Given the description of an element on the screen output the (x, y) to click on. 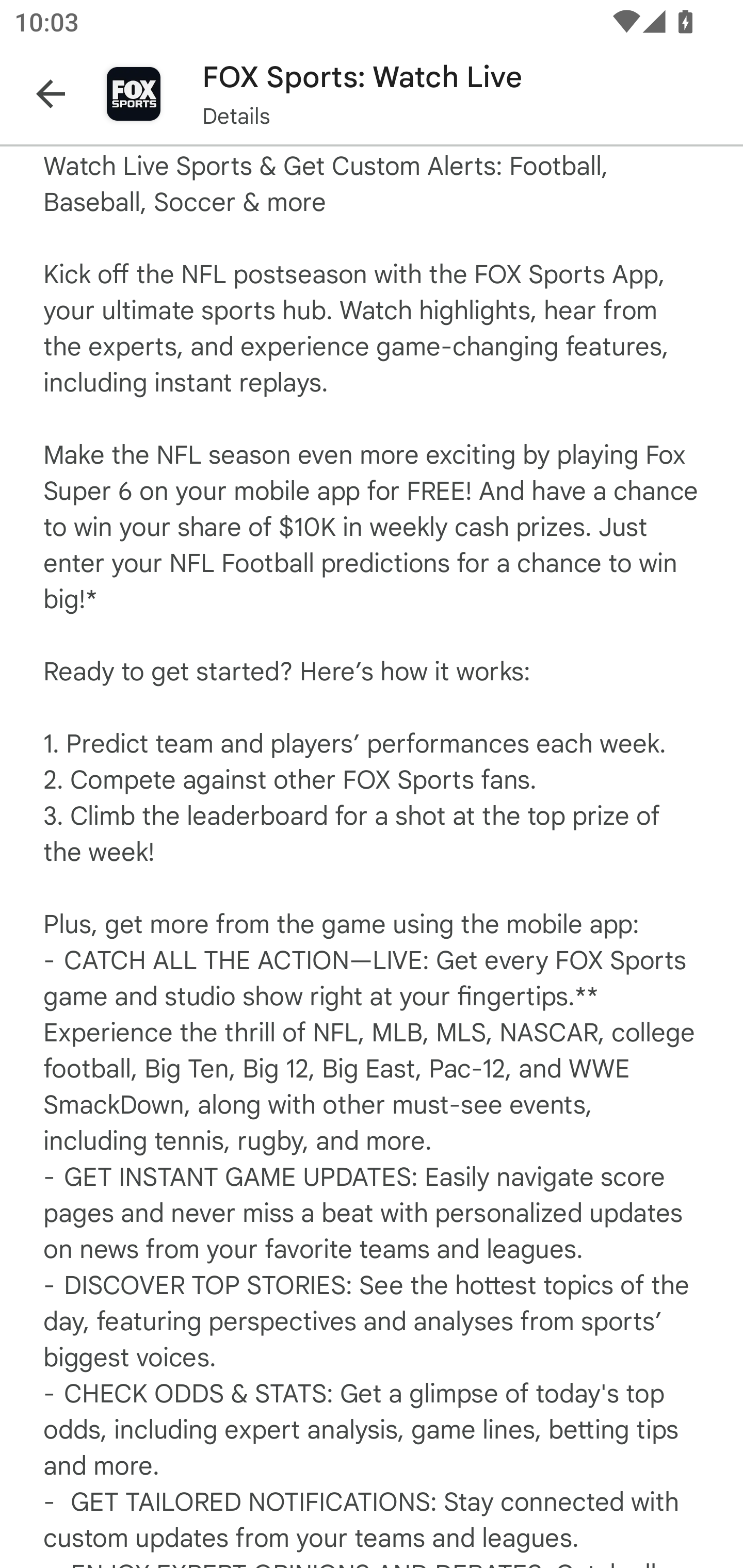
Navigate up (50, 93)
